Given the description of an element on the screen output the (x, y) to click on. 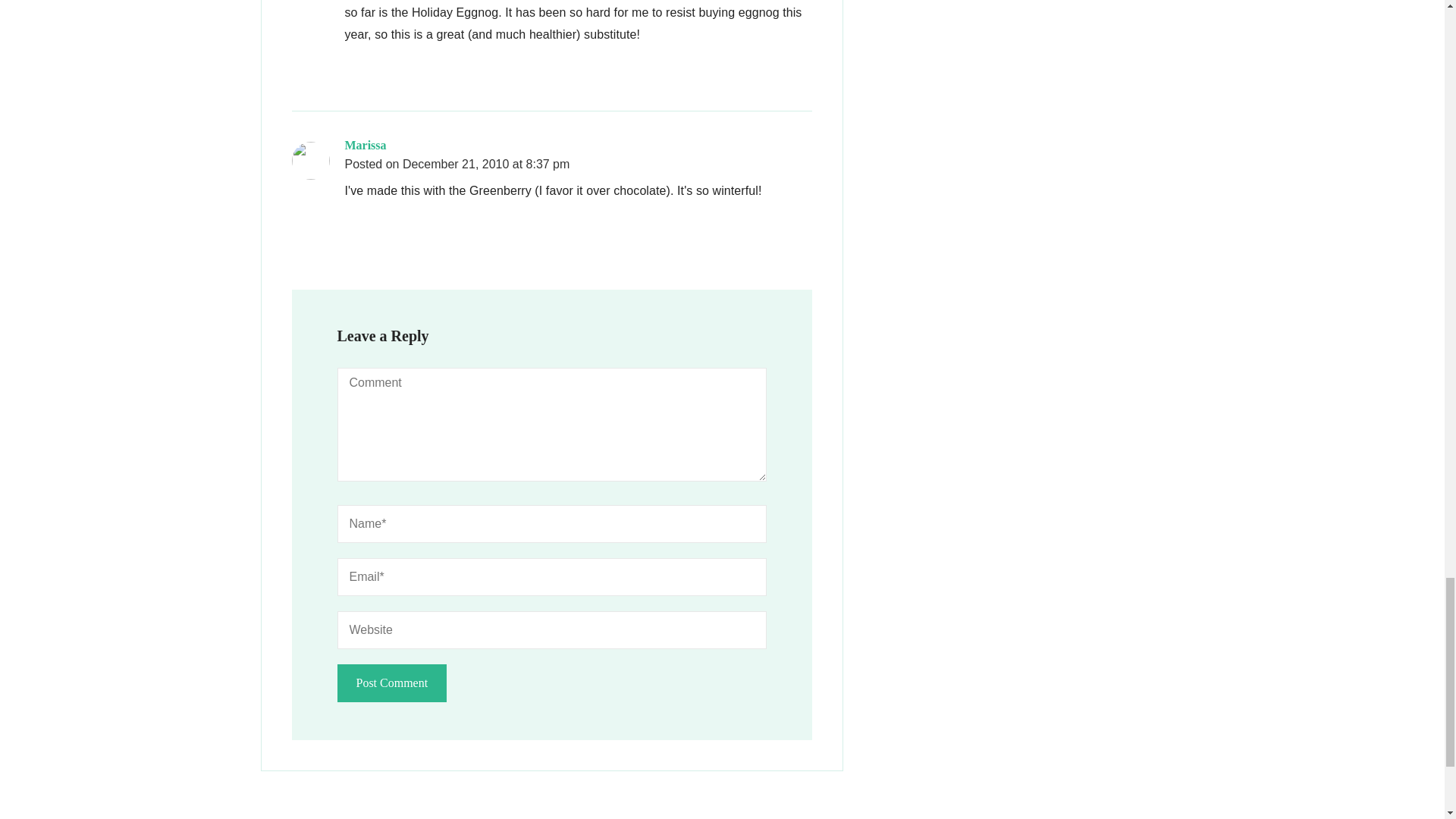
Post Comment (391, 682)
